Given the description of an element on the screen output the (x, y) to click on. 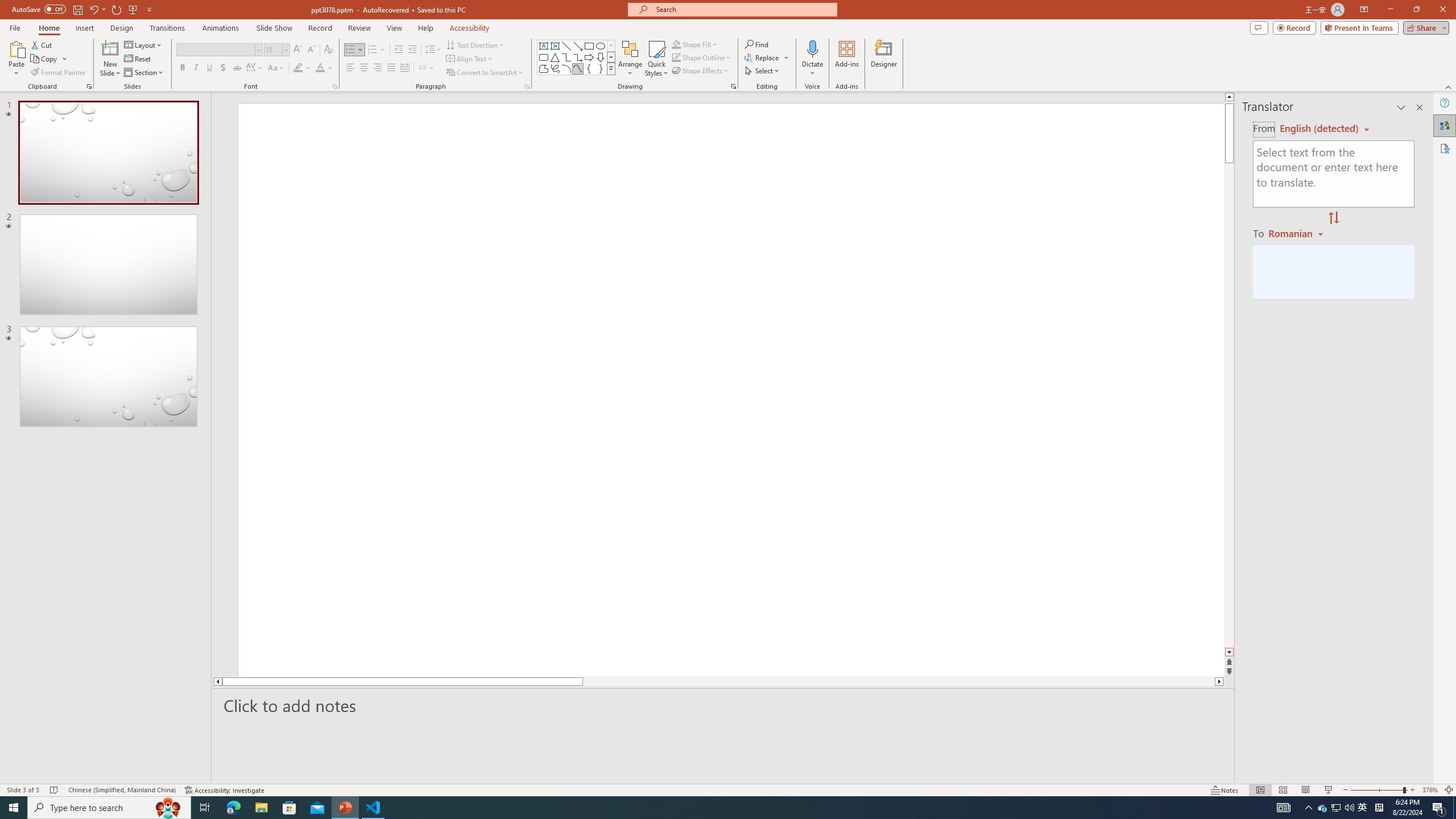
Decrease Font Size (310, 49)
Replace... (767, 56)
Arc (566, 68)
Arrow: Right (589, 57)
Slide Notes (724, 705)
Connector: Elbow (566, 57)
Page down (1229, 404)
Font Color (324, 67)
Paste (16, 48)
Shadow (223, 67)
